Given the description of an element on the screen output the (x, y) to click on. 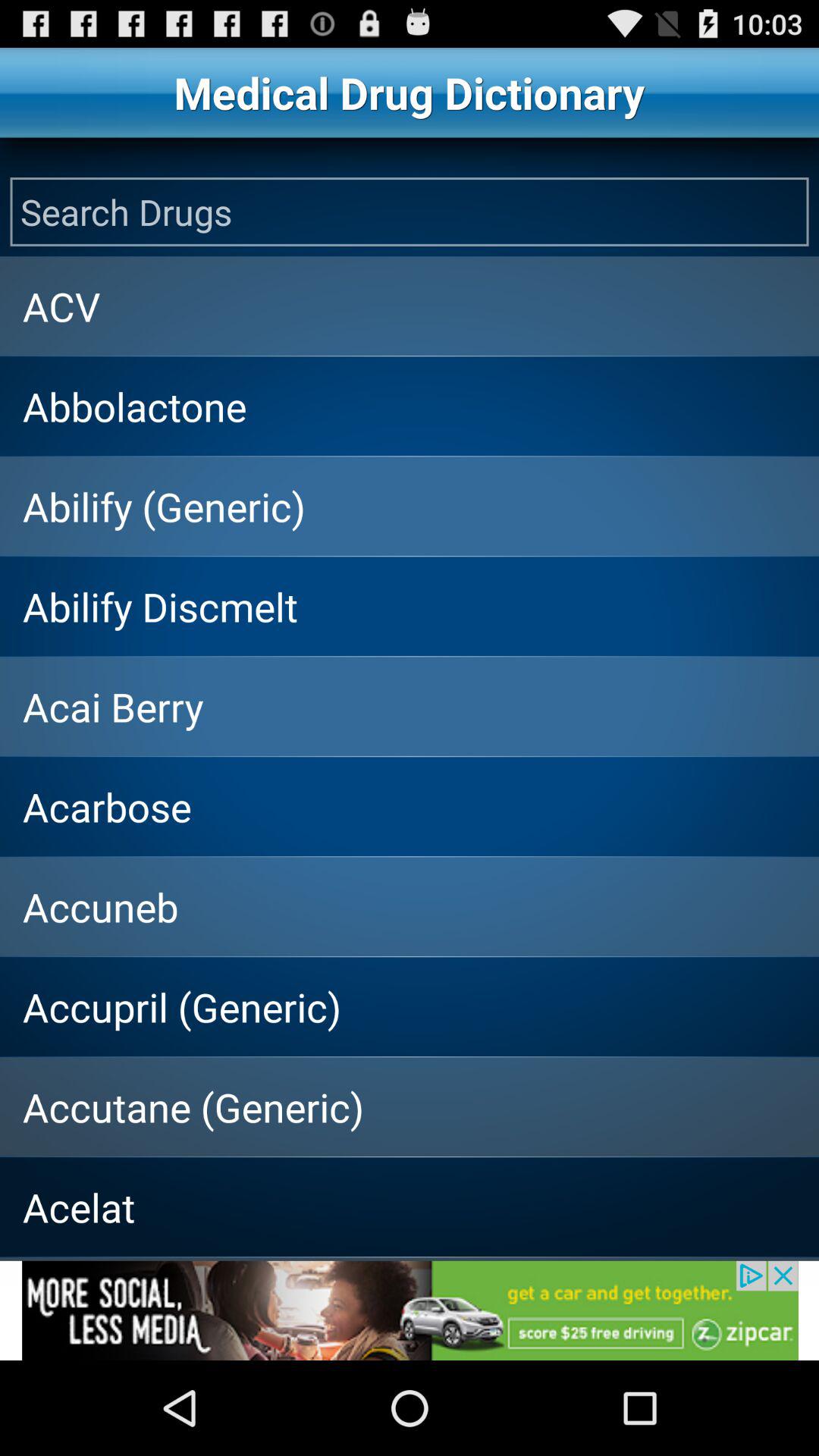
search drugs (409, 211)
